Given the description of an element on the screen output the (x, y) to click on. 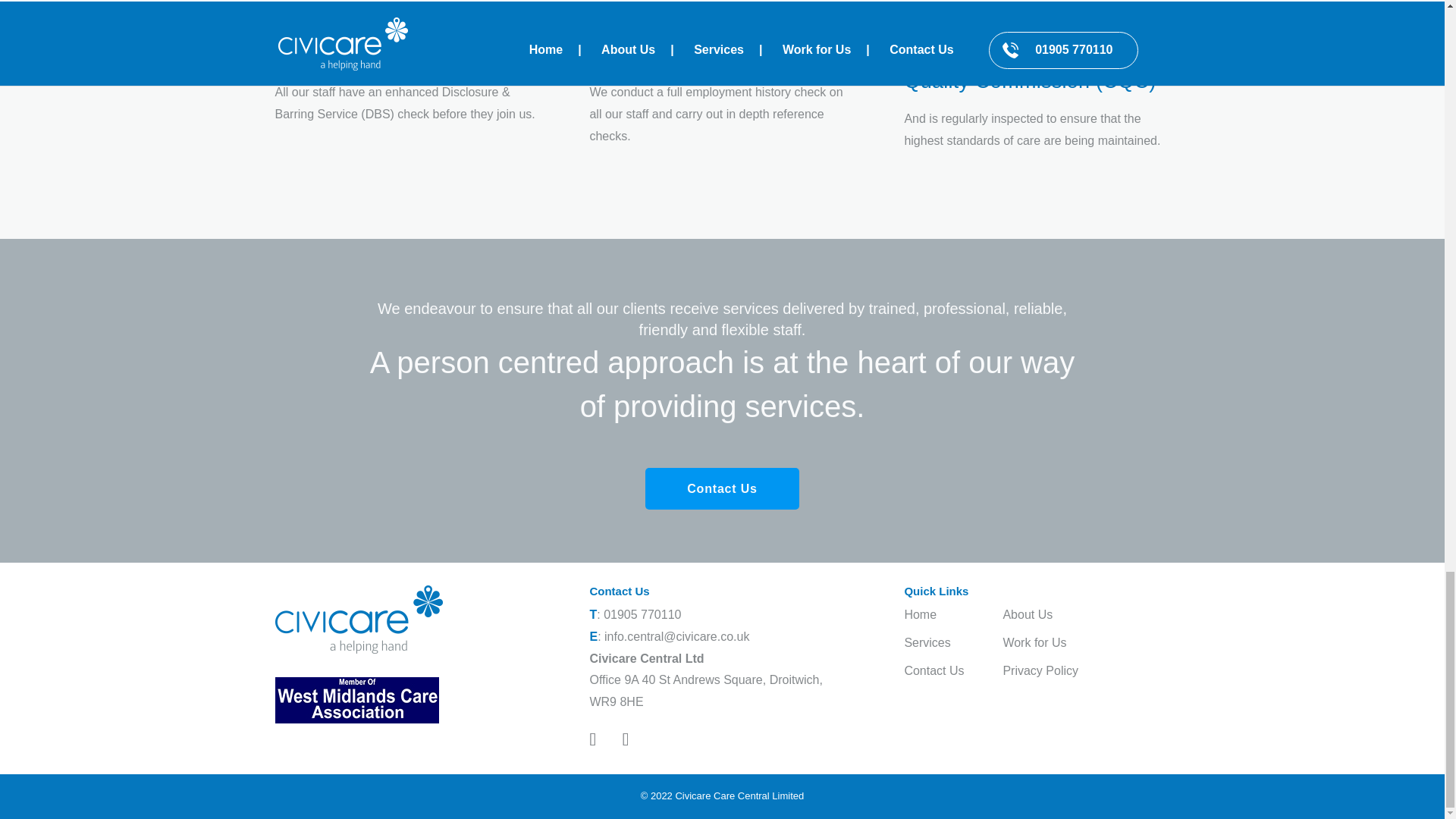
About Us (1027, 614)
Privacy Policy (1040, 670)
Contact Us (721, 488)
Home (920, 614)
Contact Us (933, 670)
Work for Us (1034, 642)
Services (927, 642)
